Given the description of an element on the screen output the (x, y) to click on. 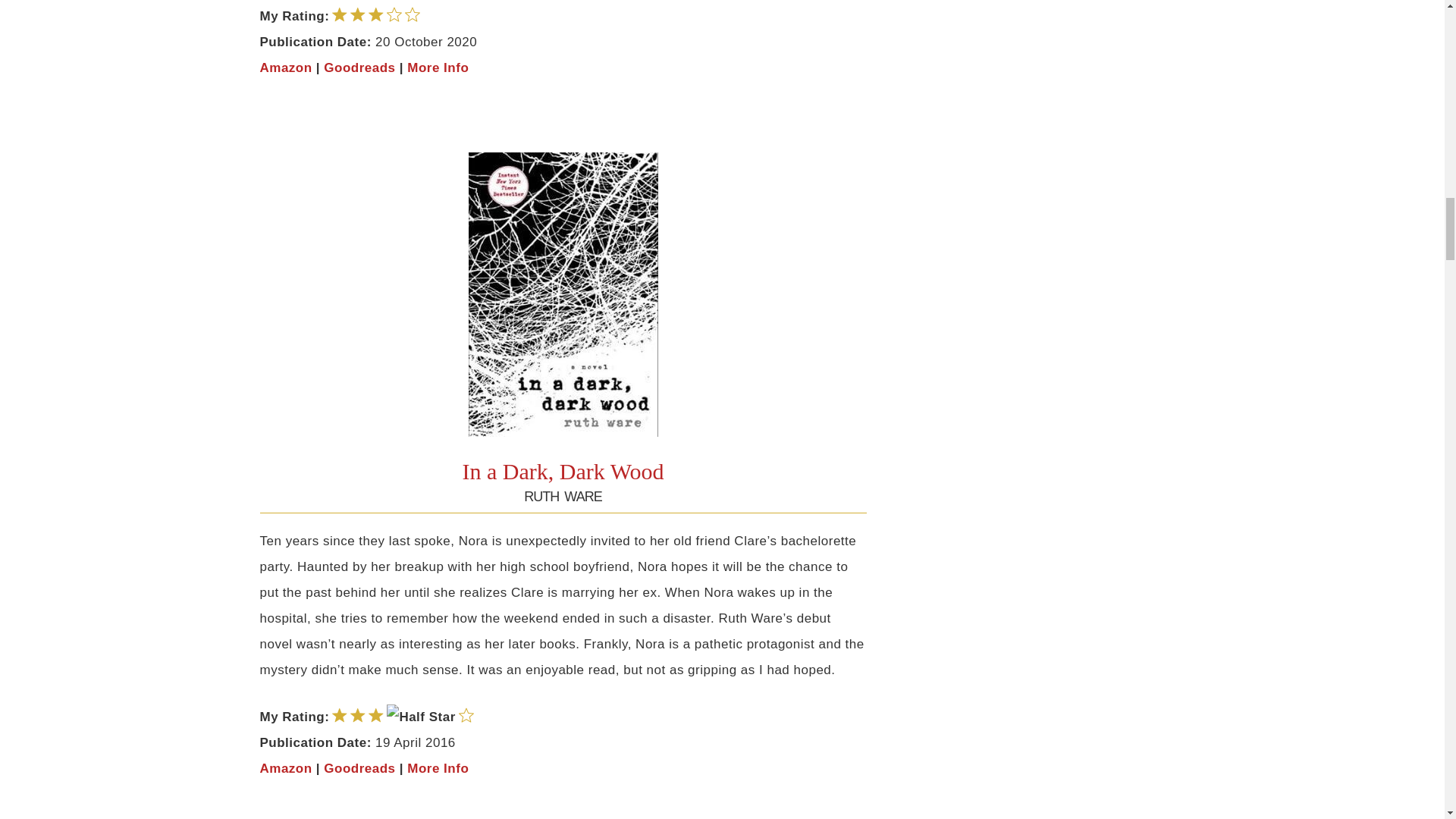
Goodreads (358, 67)
More Info (437, 768)
Goodreads (358, 768)
More Info (437, 67)
Amazon (285, 67)
In a Dark, Dark Wood (562, 471)
Amazon (285, 768)
